Given the description of an element on the screen output the (x, y) to click on. 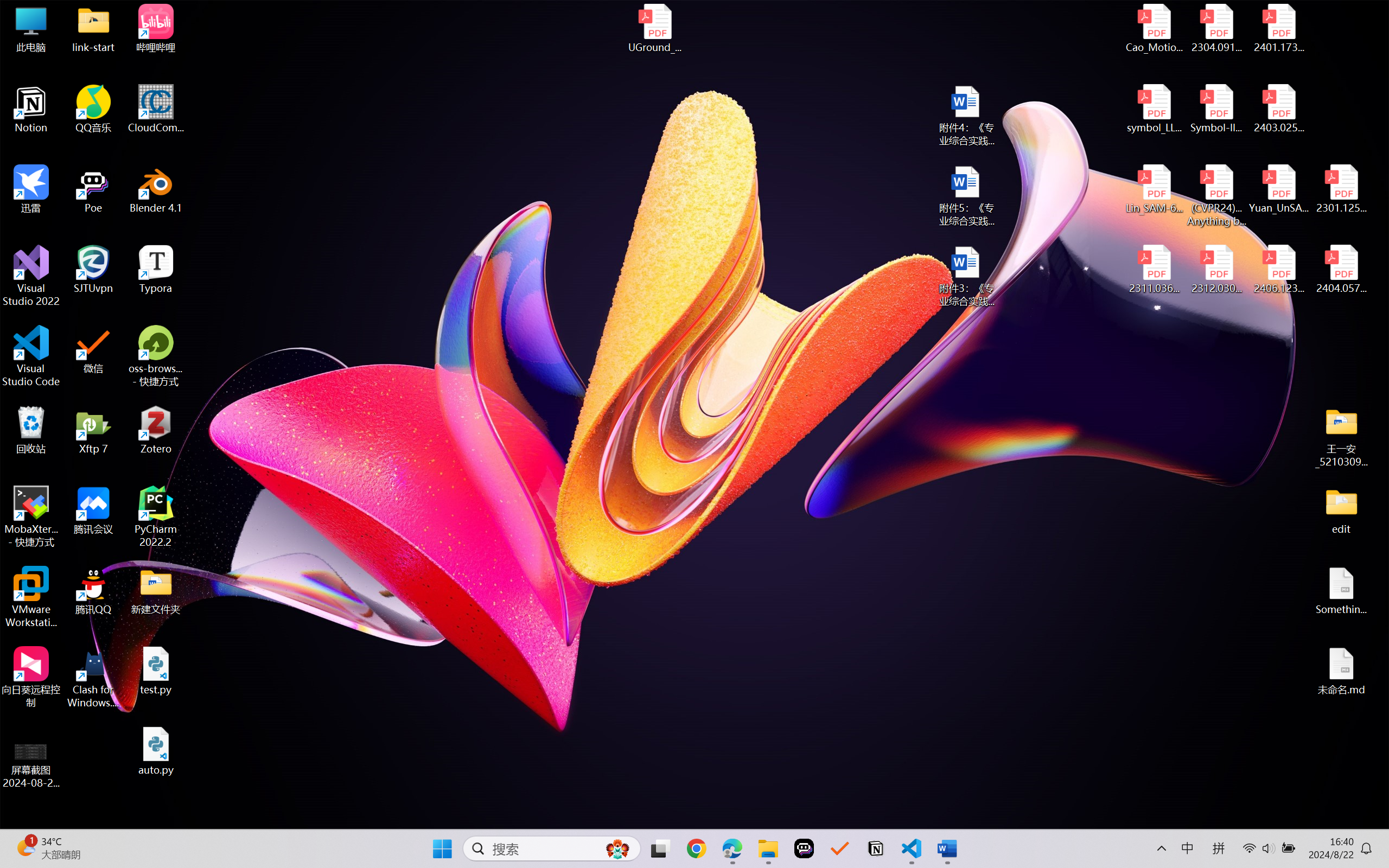
2406.12373v2.pdf (1278, 269)
(CVPR24)Matching Anything by Segmenting Anything.pdf (1216, 195)
Poe (93, 189)
Visual Studio Code (31, 355)
edit (1340, 510)
Visual Studio 2022 (31, 276)
